Given the description of an element on the screen output the (x, y) to click on. 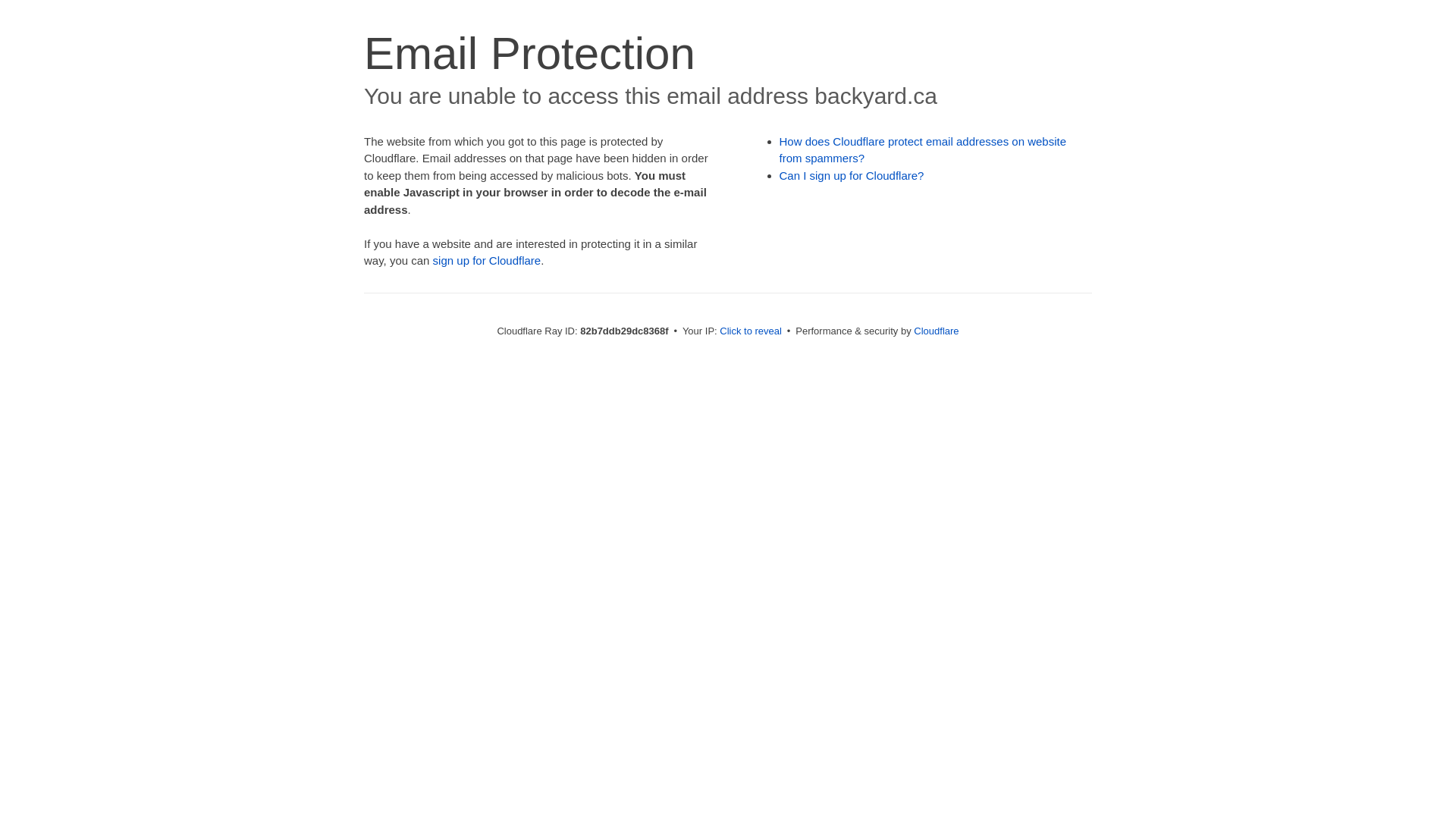
Cloudflare Element type: text (935, 330)
Click to reveal Element type: text (750, 330)
Can I sign up for Cloudflare? Element type: text (851, 175)
sign up for Cloudflare Element type: text (487, 260)
